Given the description of an element on the screen output the (x, y) to click on. 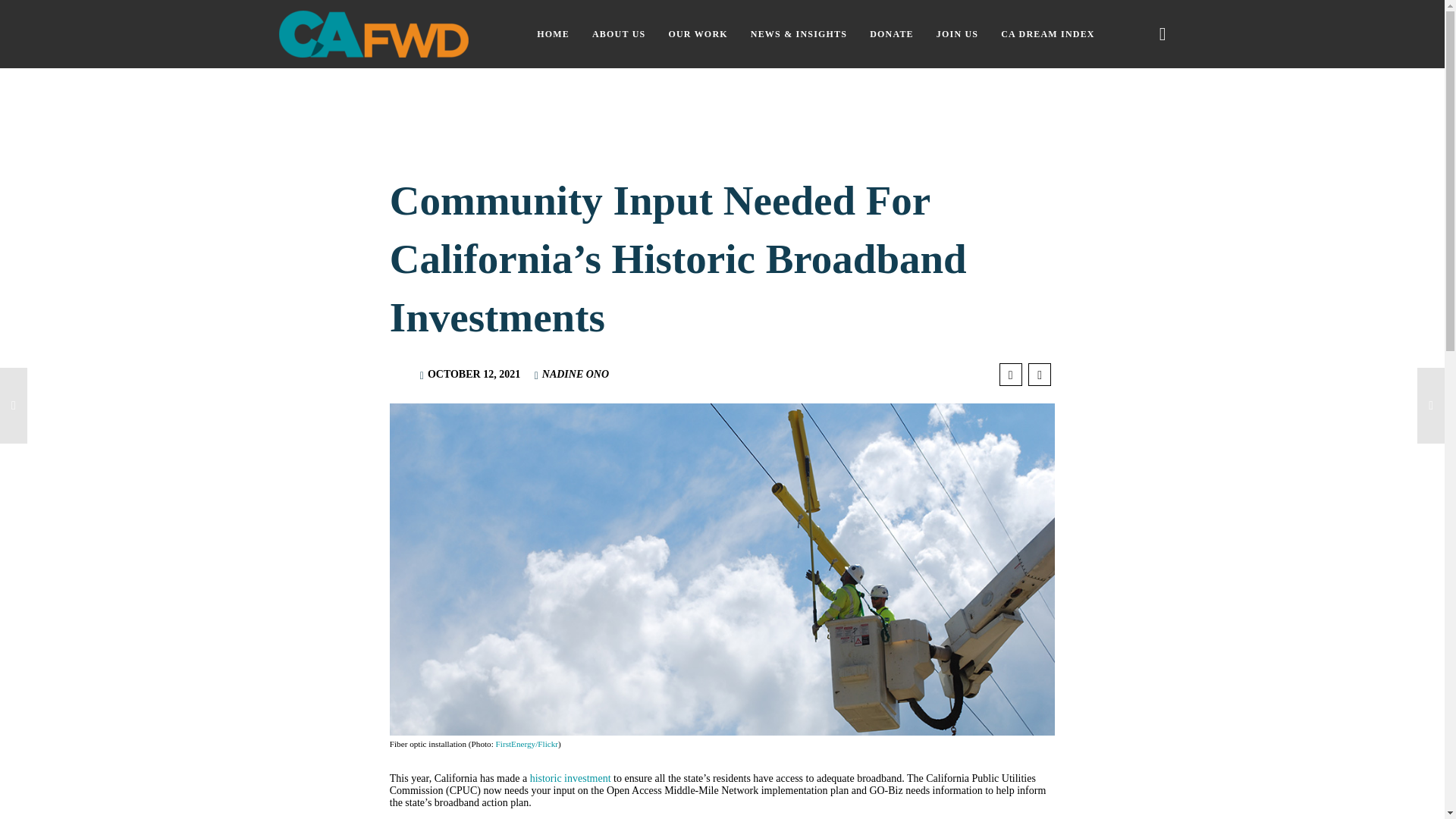
California Forward (373, 33)
